Given the description of an element on the screen output the (x, y) to click on. 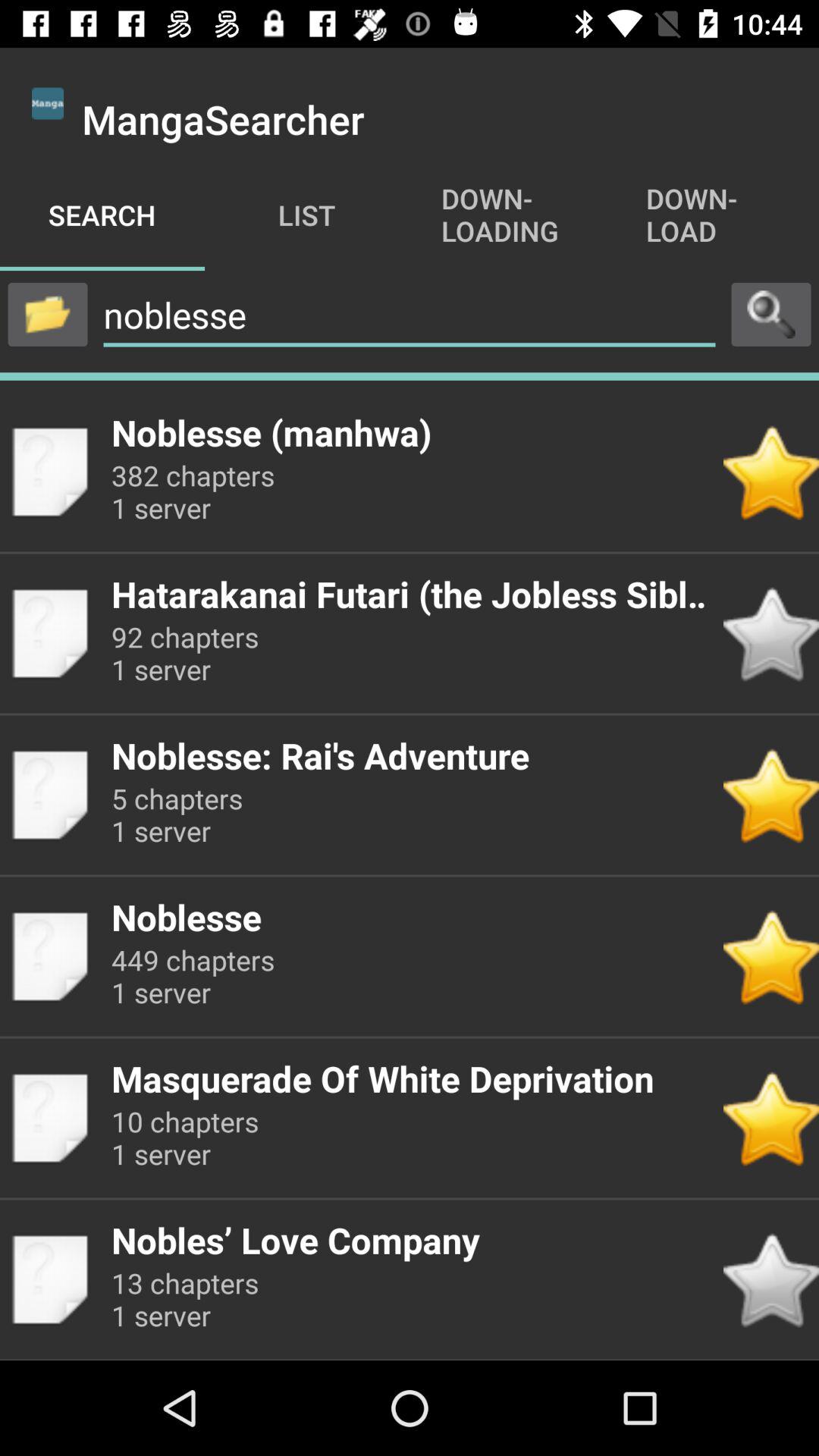
press to search (771, 314)
